Given the description of an element on the screen output the (x, y) to click on. 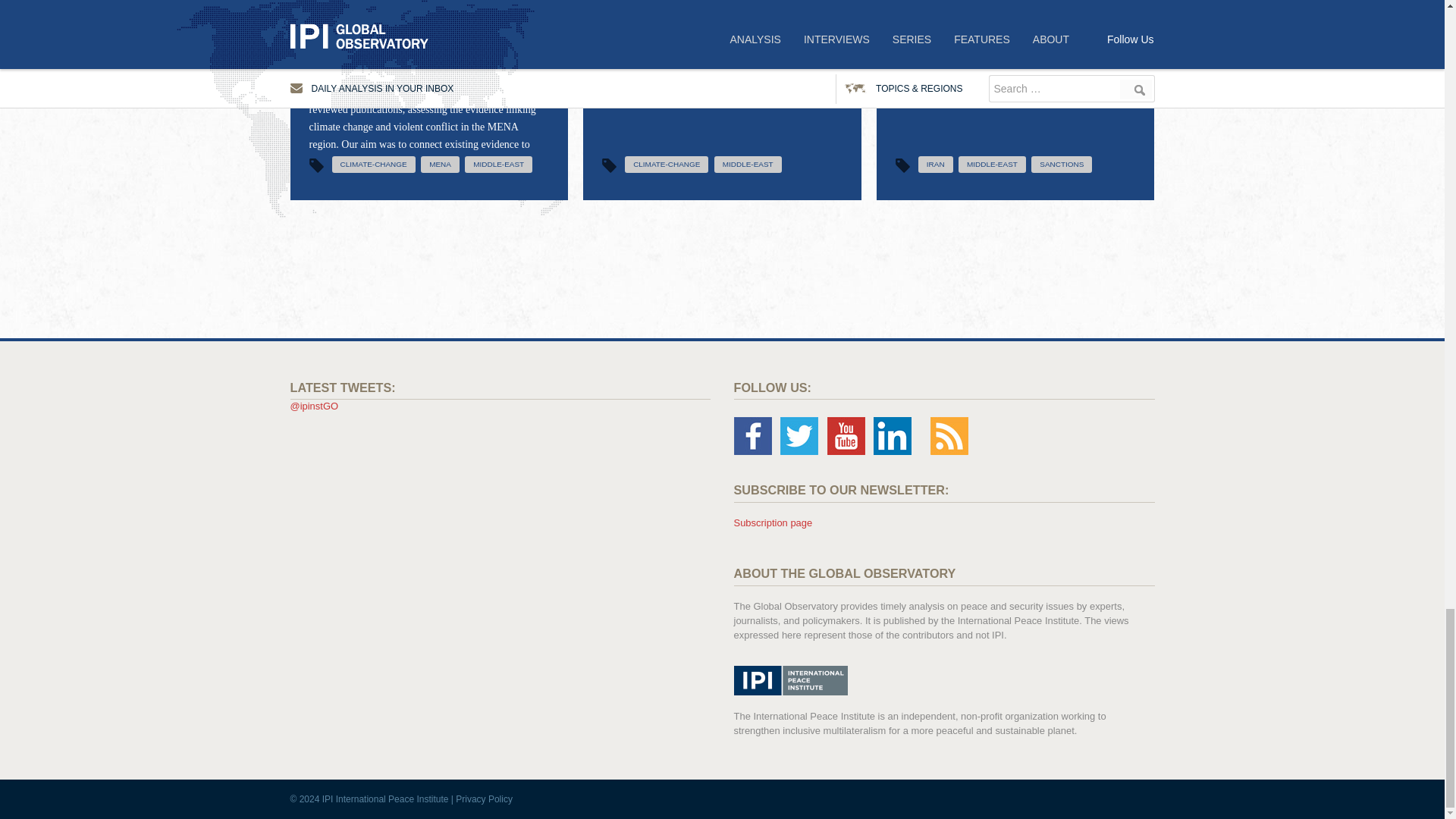
Youtube (845, 435)
RSS (949, 435)
Twitter (799, 435)
Facebook (752, 435)
LinkedIn (892, 435)
